Given the description of an element on the screen output the (x, y) to click on. 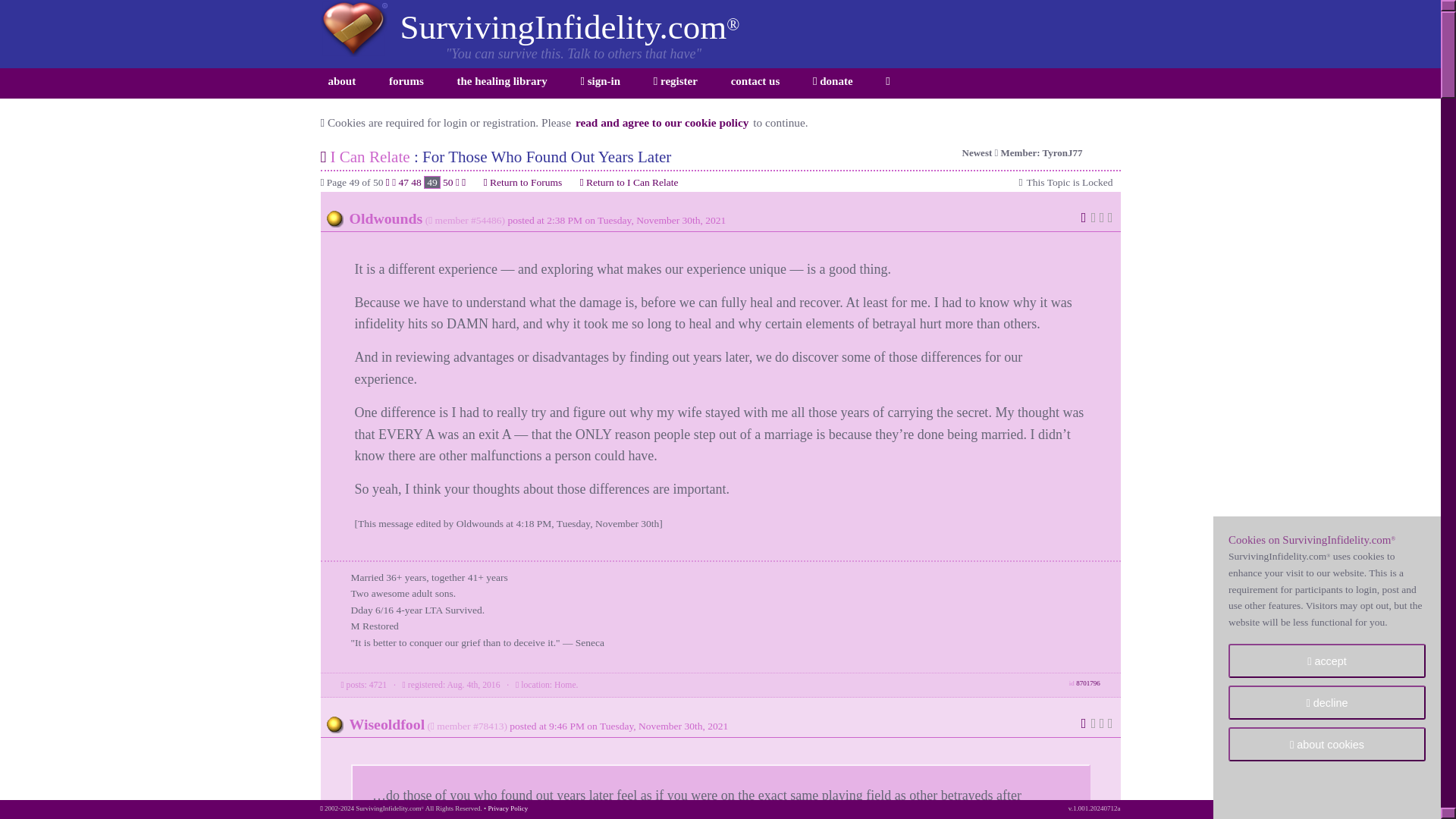
forums (405, 82)
47 (403, 182)
donate (832, 82)
48 (416, 182)
read and agree to our cookie policy (662, 122)
the healing library (501, 82)
about (341, 82)
sign-in (599, 82)
register (675, 82)
contact us (755, 82)
I Can Relate (369, 157)
